Given the description of an element on the screen output the (x, y) to click on. 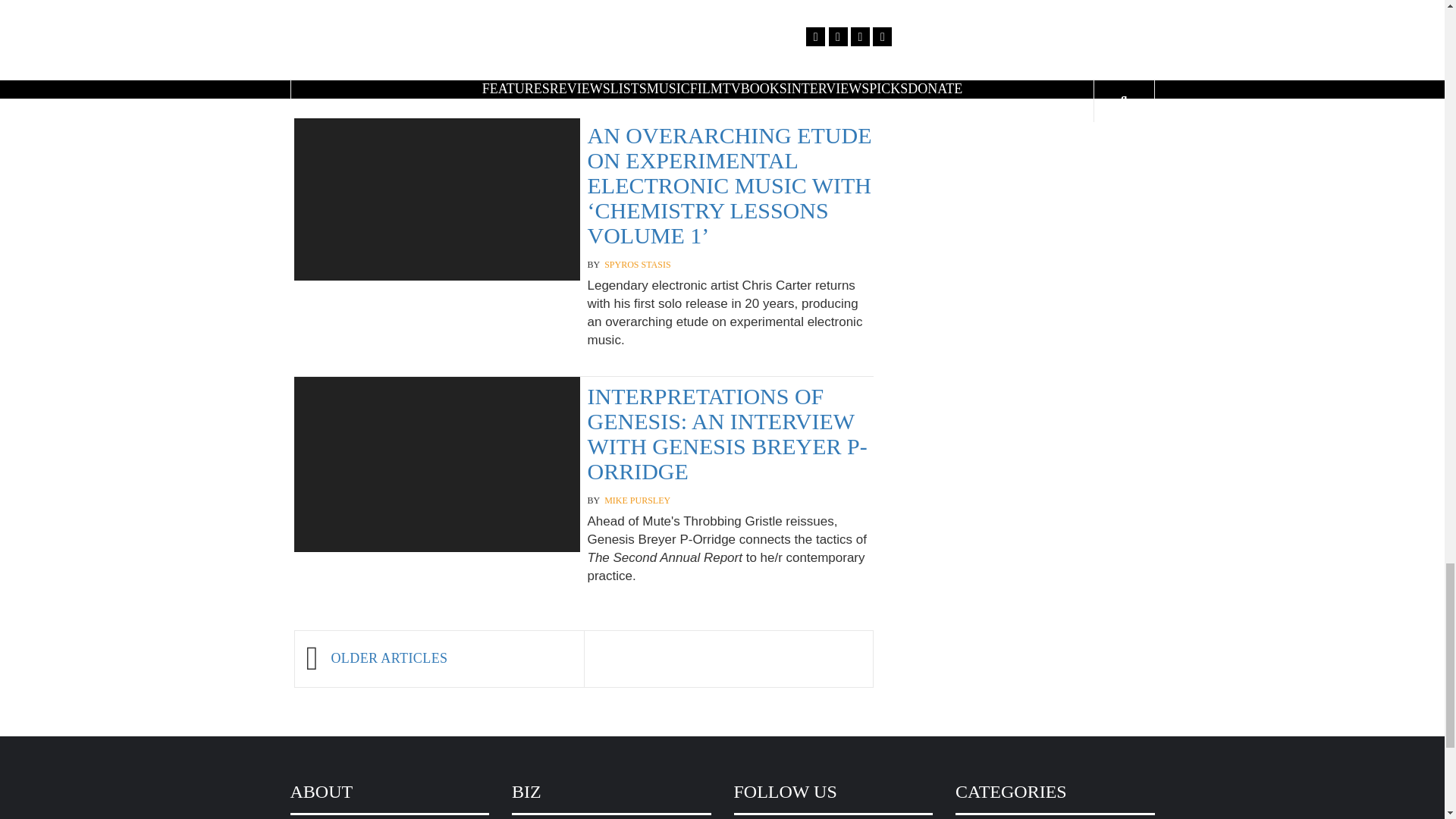
Mike Pursley (636, 500)
Spyros Stasis (636, 264)
